Given the description of an element on the screen output the (x, y) to click on. 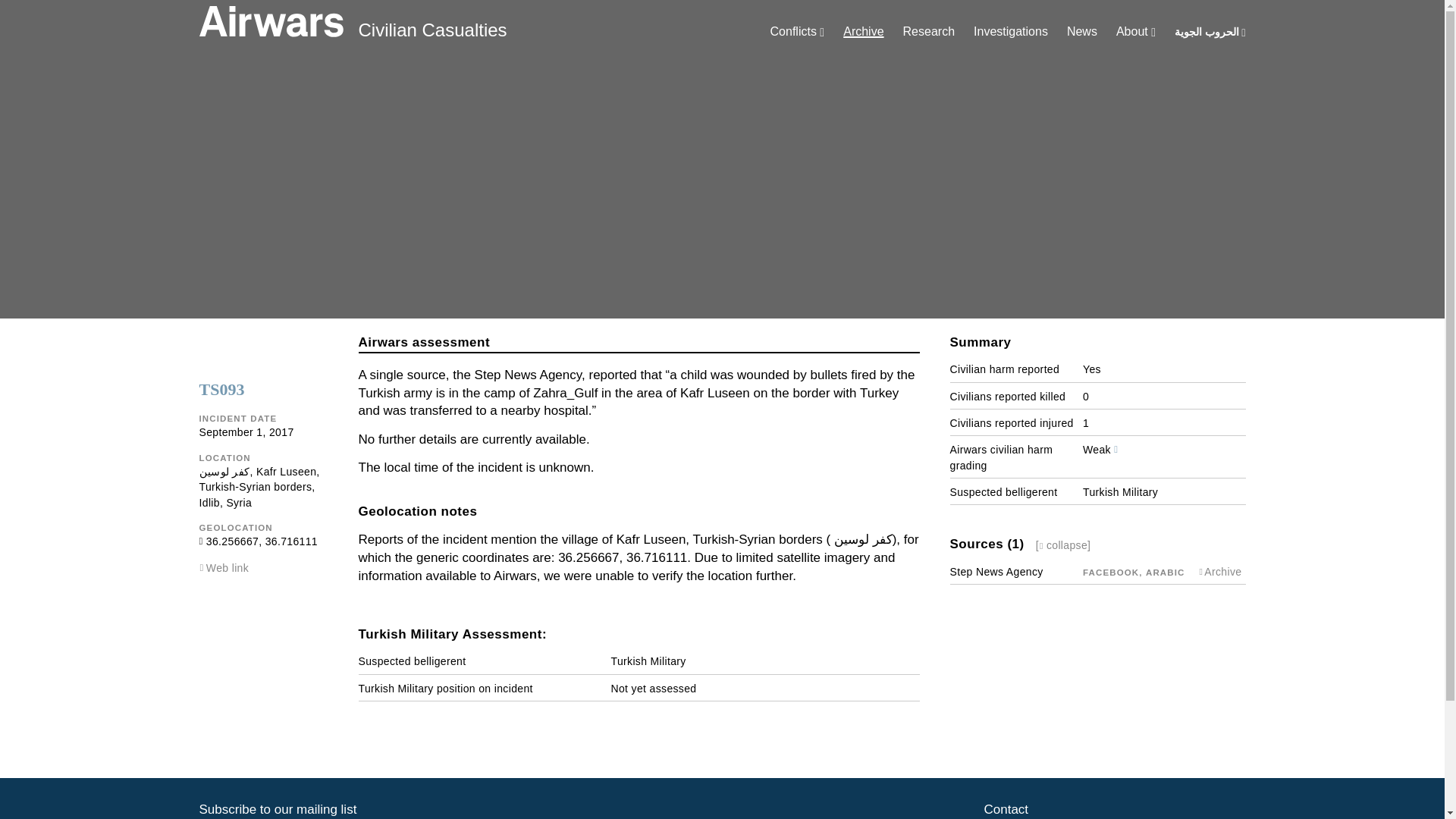
Web link (227, 567)
Archive (863, 31)
News (1082, 31)
Step News Agency (995, 571)
Investigations (1011, 31)
Archive (1222, 571)
Research (928, 31)
